Given the description of an element on the screen output the (x, y) to click on. 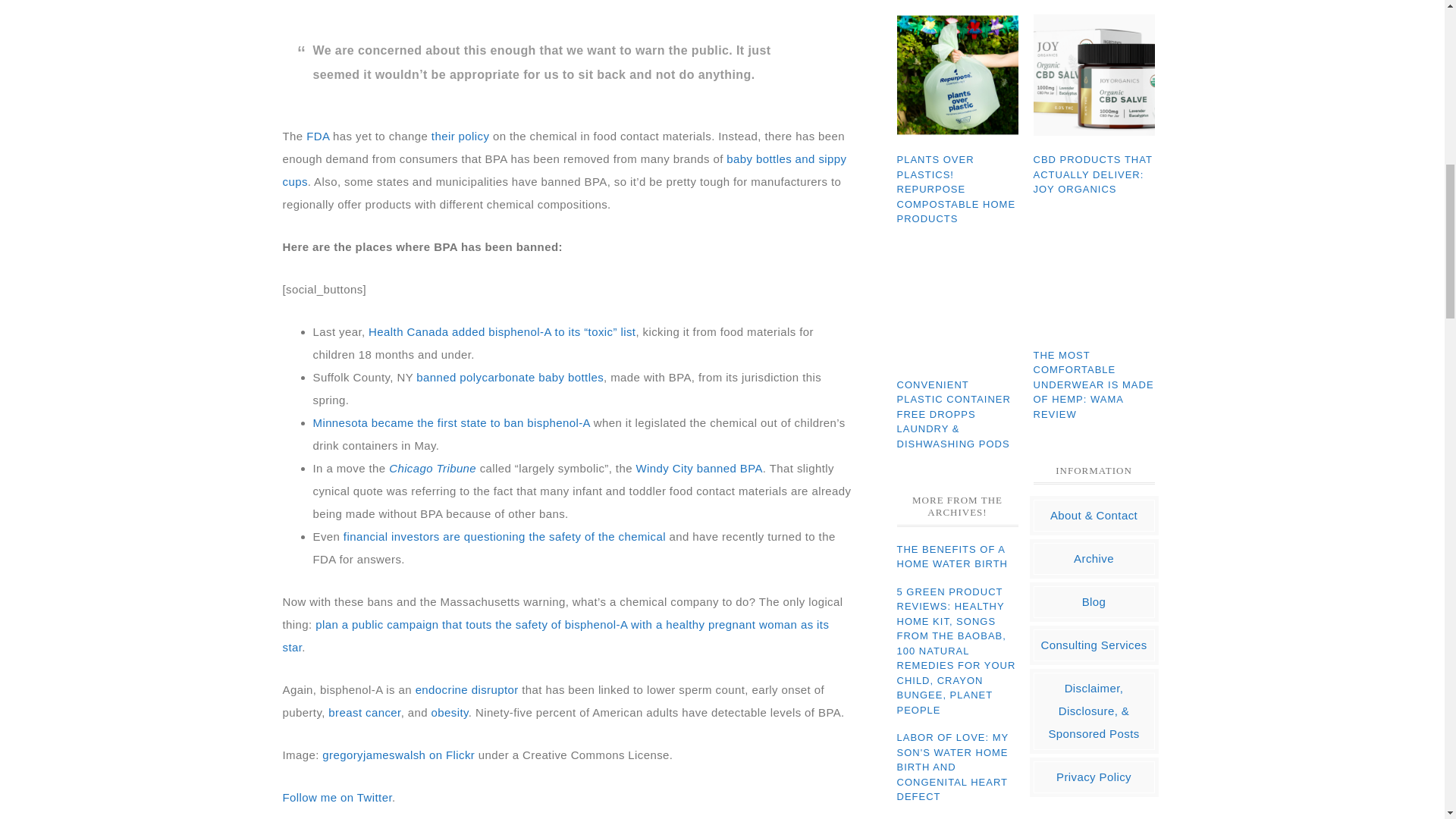
endocrine disruptor (466, 688)
Chicago Tribune (432, 467)
Follow me on Twitter (336, 796)
FDA (317, 134)
their policy (459, 134)
obesity (449, 711)
Minnesota became the first state to ban bisphenol-A (451, 421)
gregoryjameswalsh on Flickr (397, 753)
baby bottles and sippy cups (563, 169)
banned polycarbonate baby bottles (510, 376)
breast cancer (364, 711)
Windy City banned BPA (697, 467)
